Given the description of an element on the screen output the (x, y) to click on. 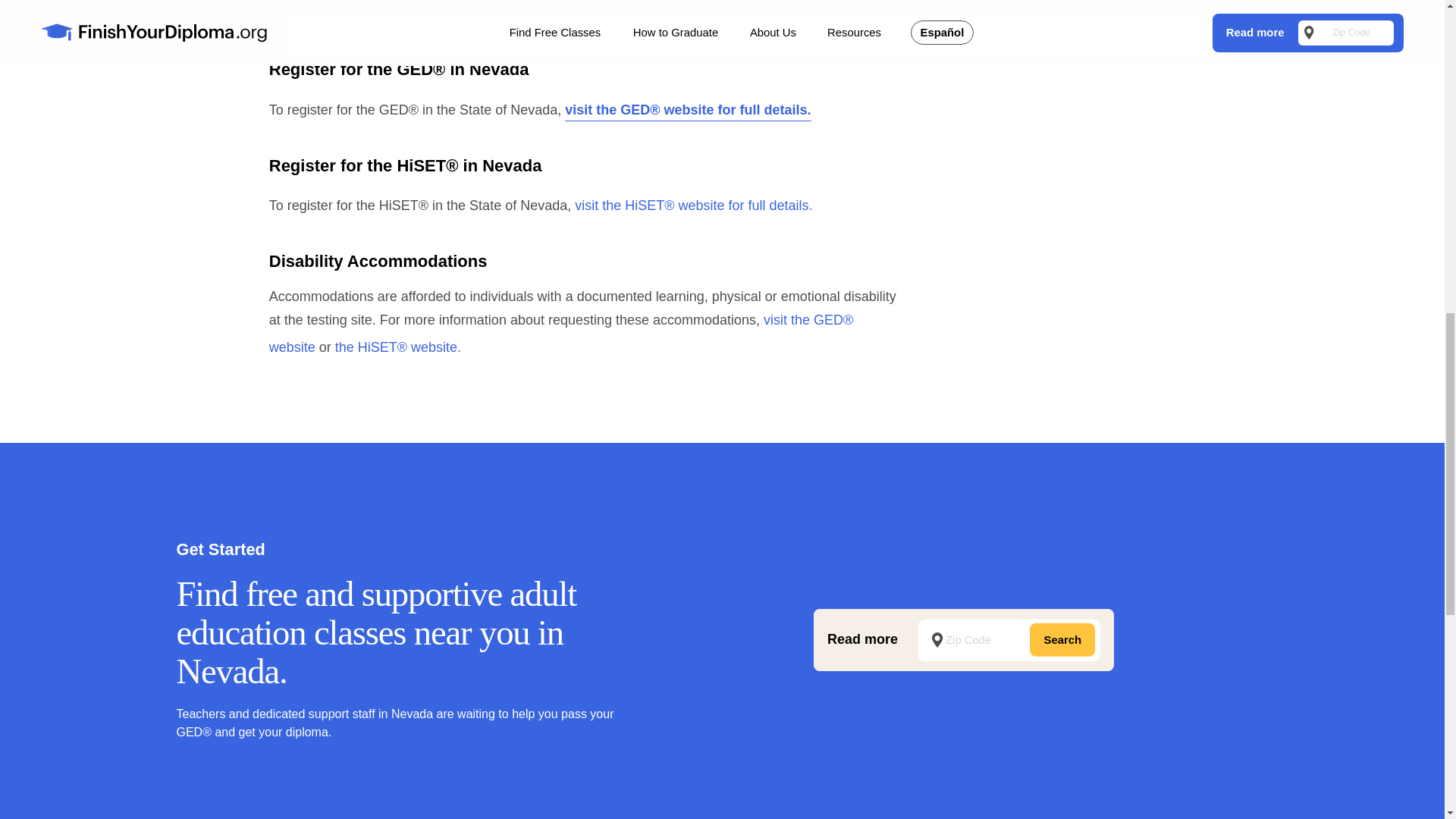
Search (1061, 639)
Please enter a 5-digit numeric ZIP code. (1009, 639)
Search (1061, 639)
